Given the description of an element on the screen output the (x, y) to click on. 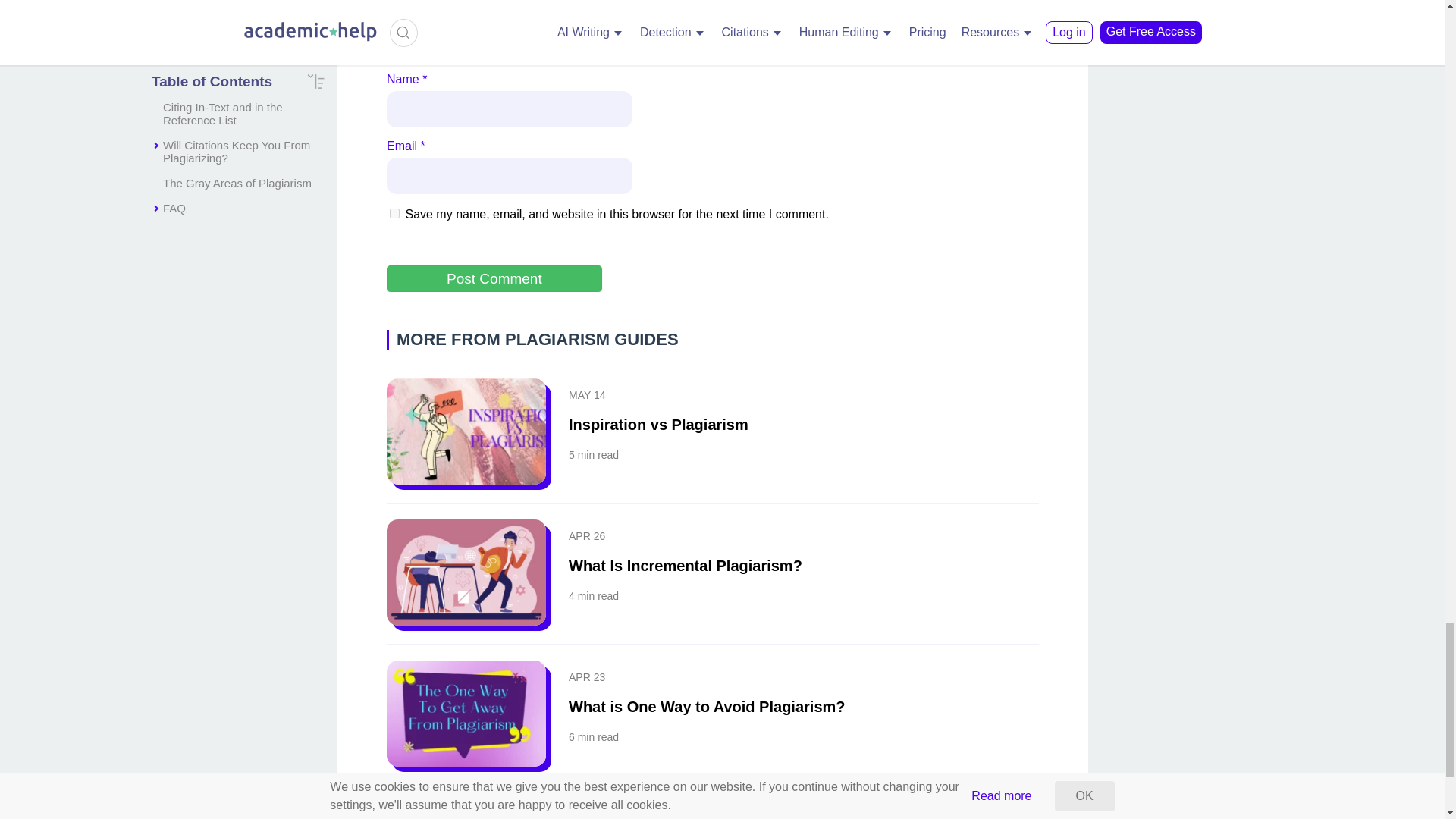
yes (394, 213)
Post Comment (494, 278)
